Given the description of an element on the screen output the (x, y) to click on. 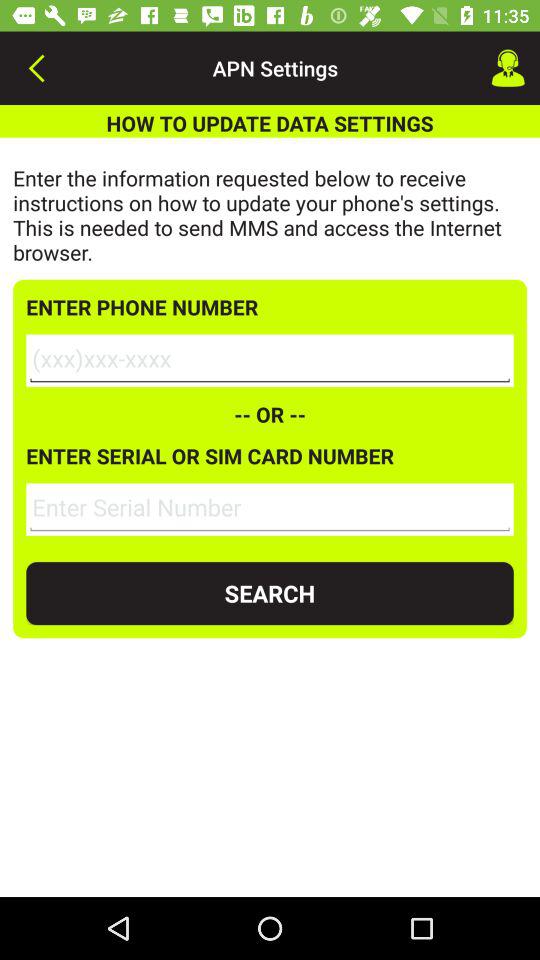
turn off the item next to the apn settings item (36, 68)
